Given the description of an element on the screen output the (x, y) to click on. 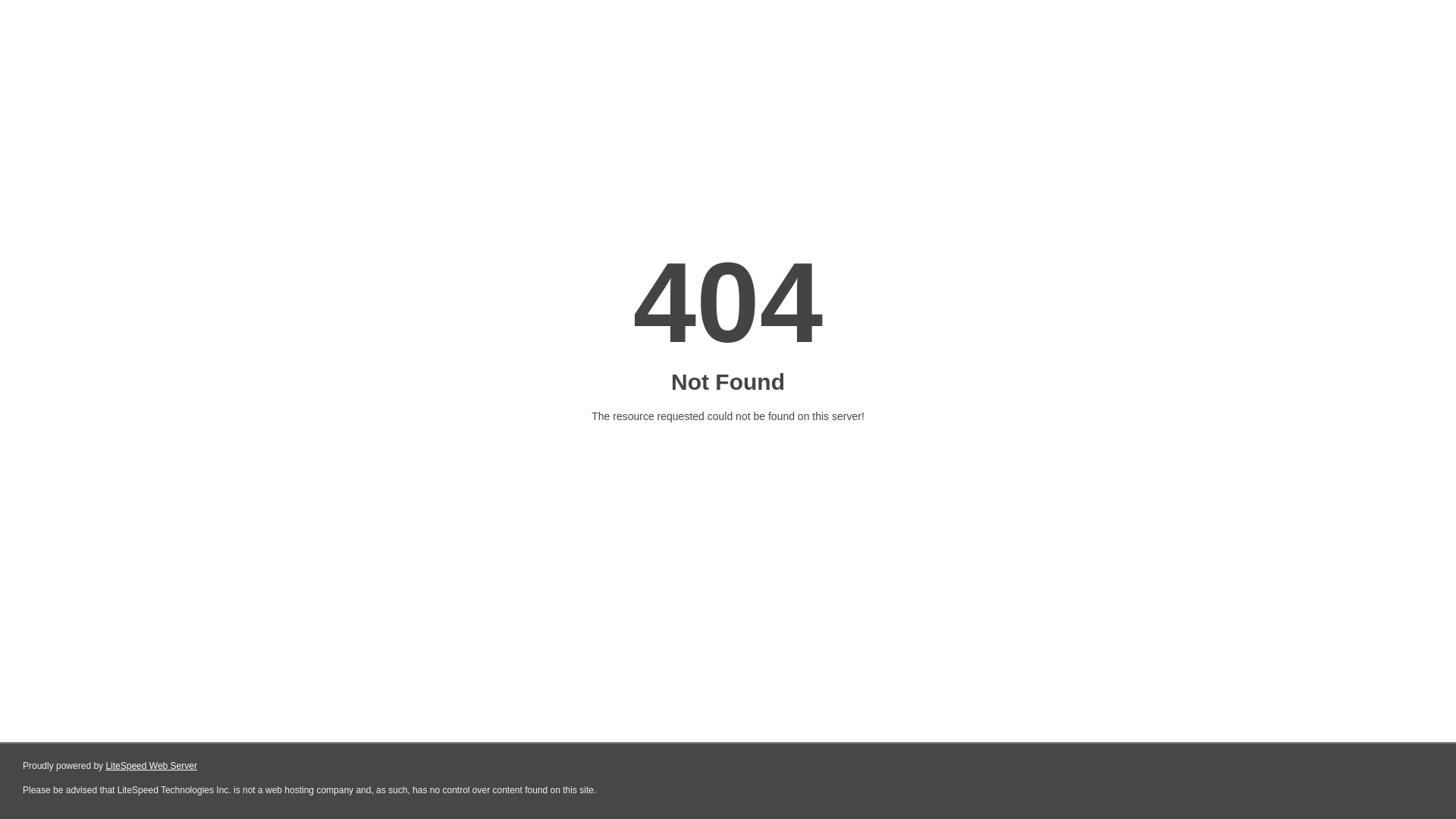
LiteSpeed Web Server Element type: text (151, 765)
